Given the description of an element on the screen output the (x, y) to click on. 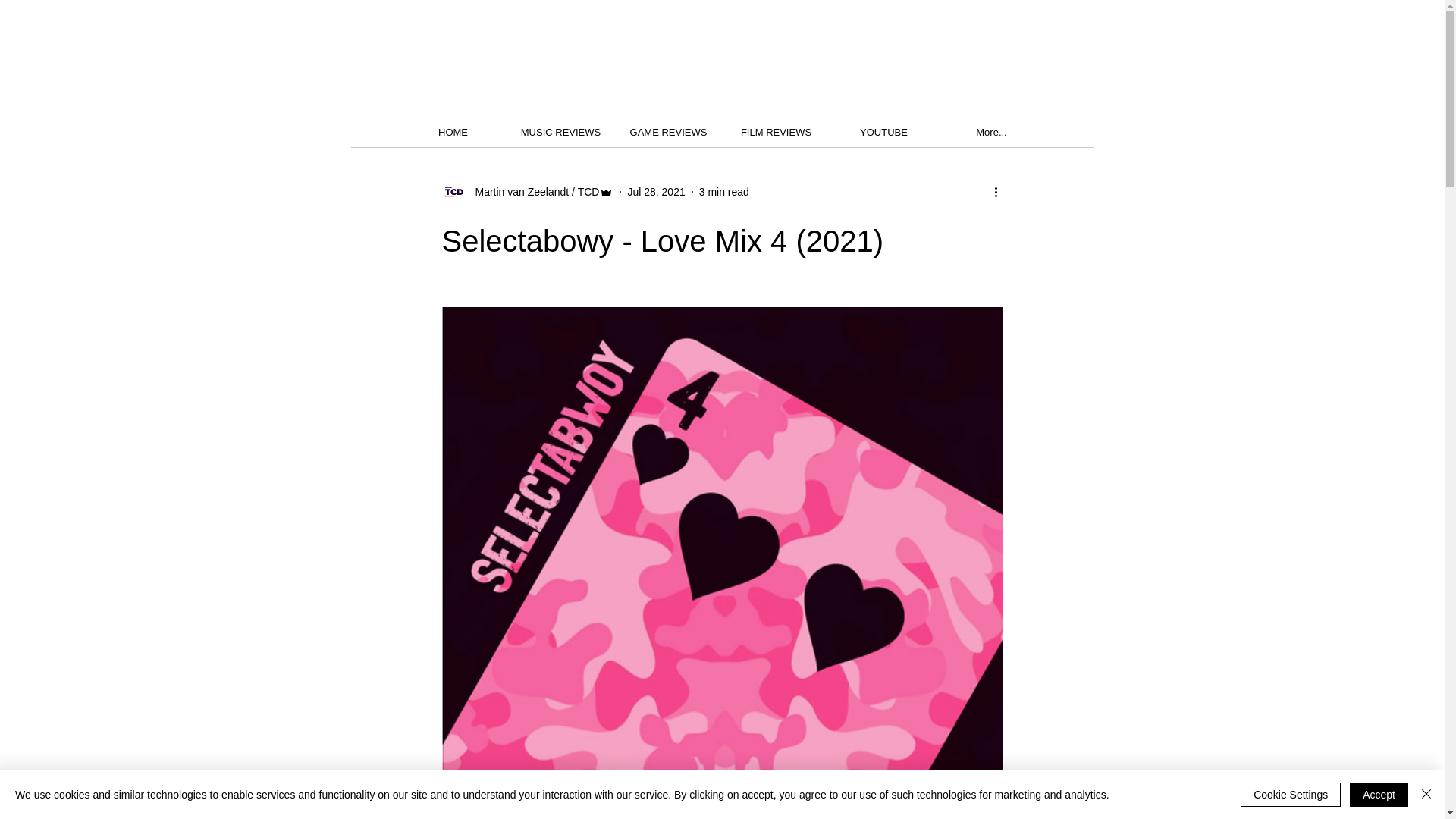
3 min read (723, 191)
HOME (452, 132)
Jul 28, 2021 (655, 191)
MUSIC REVIEWS (560, 132)
